Given the description of an element on the screen output the (x, y) to click on. 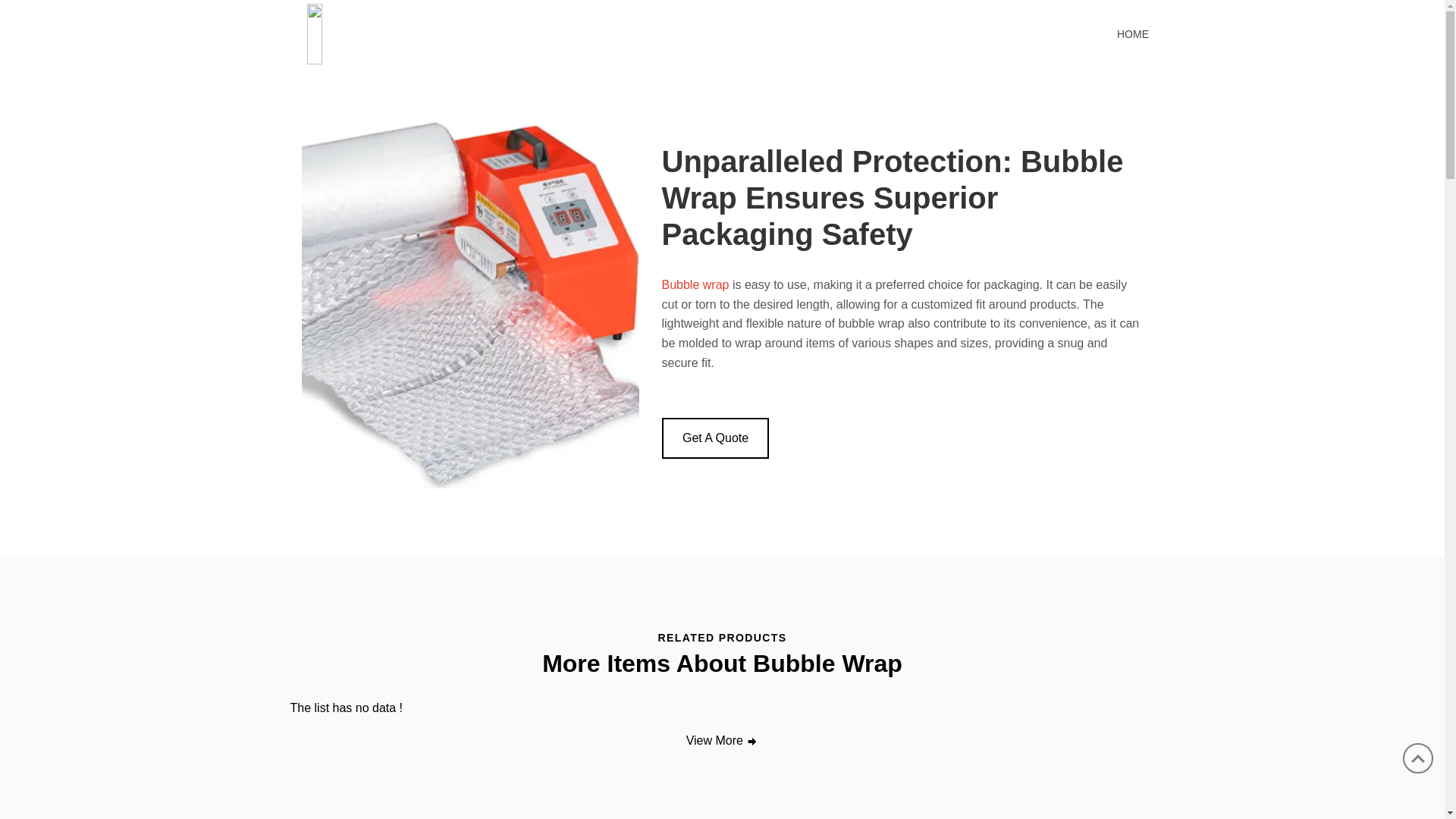
Bubble wrap (695, 284)
Back To Home (408, 32)
Get A Quote (714, 437)
Get A Quote (714, 437)
View More (722, 740)
Bubble wrap (695, 284)
View More (722, 740)
